Given the description of an element on the screen output the (x, y) to click on. 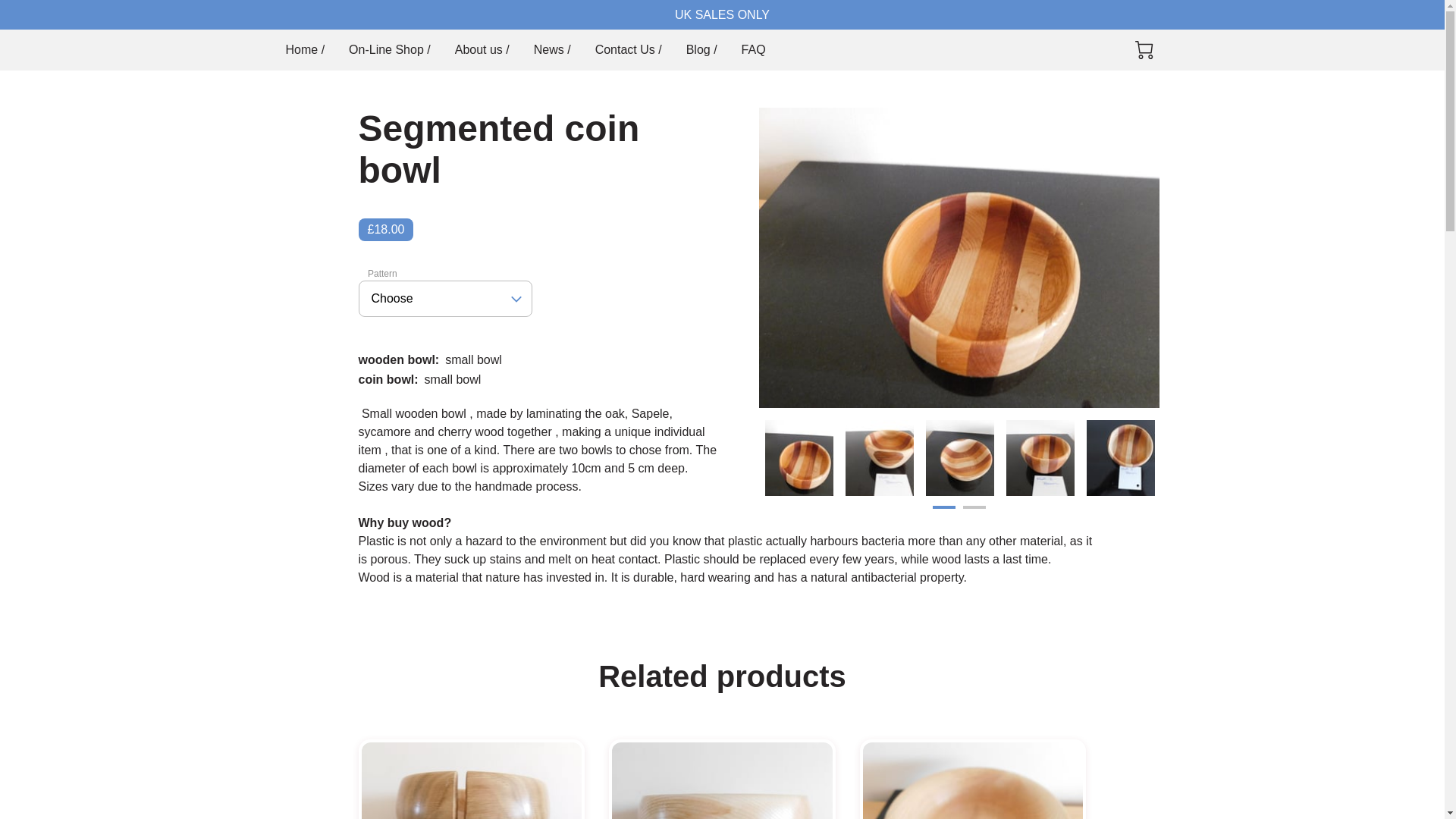
1 (944, 513)
2 (973, 513)
0 (1143, 49)
